Given the description of an element on the screen output the (x, y) to click on. 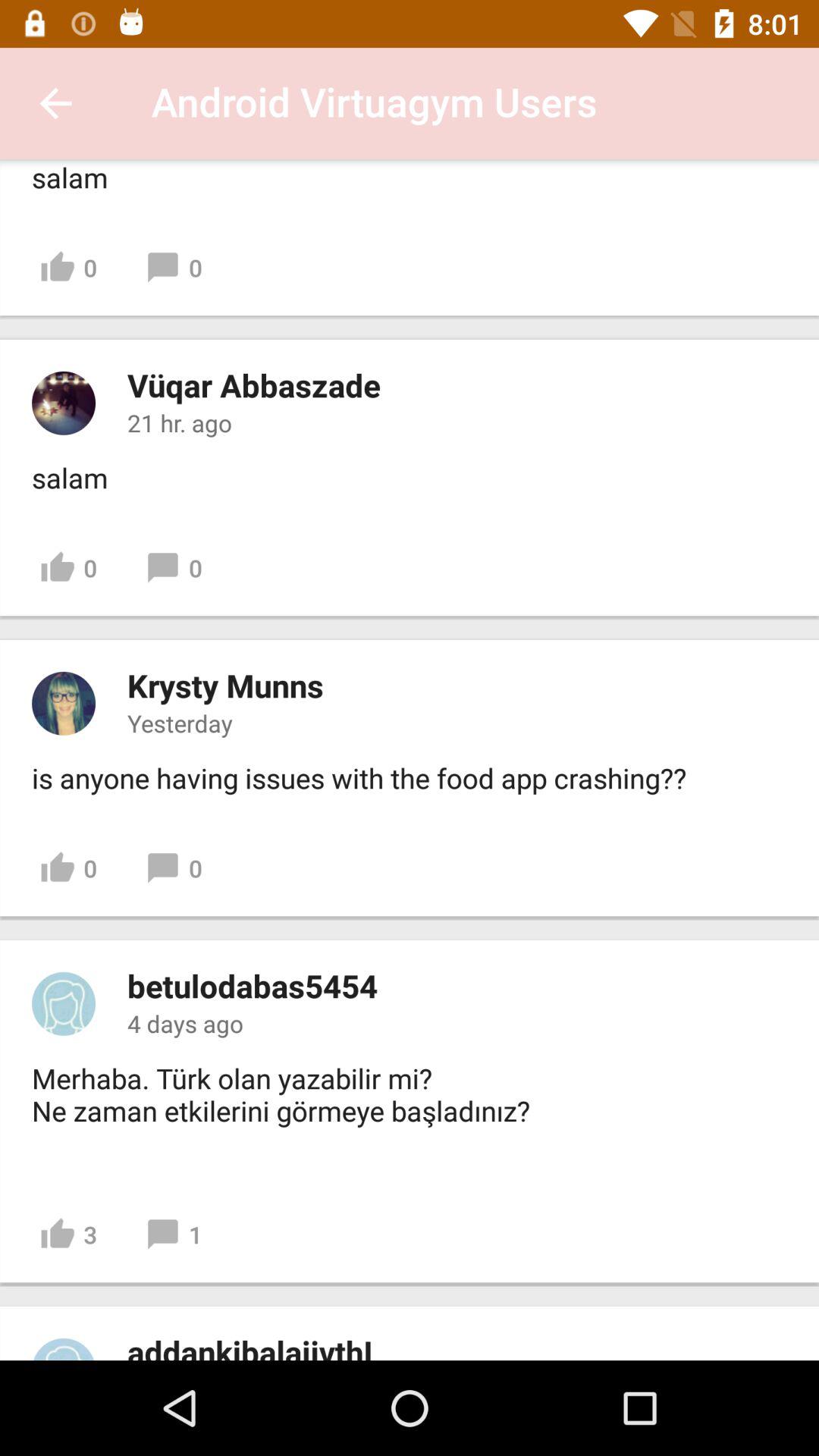
link to user profile (63, 403)
